Given the description of an element on the screen output the (x, y) to click on. 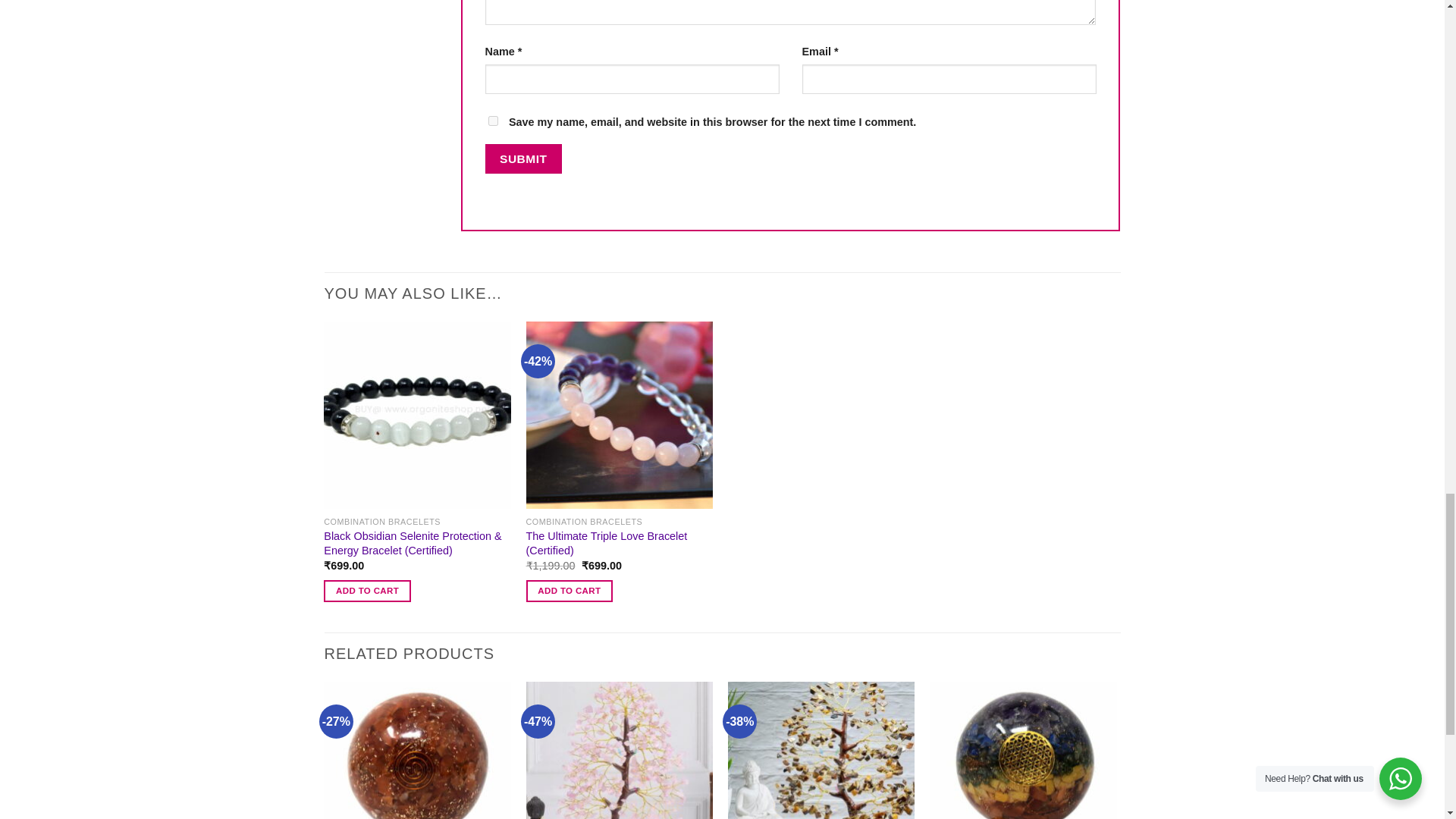
Submit (523, 158)
yes (492, 121)
